Given the description of an element on the screen output the (x, y) to click on. 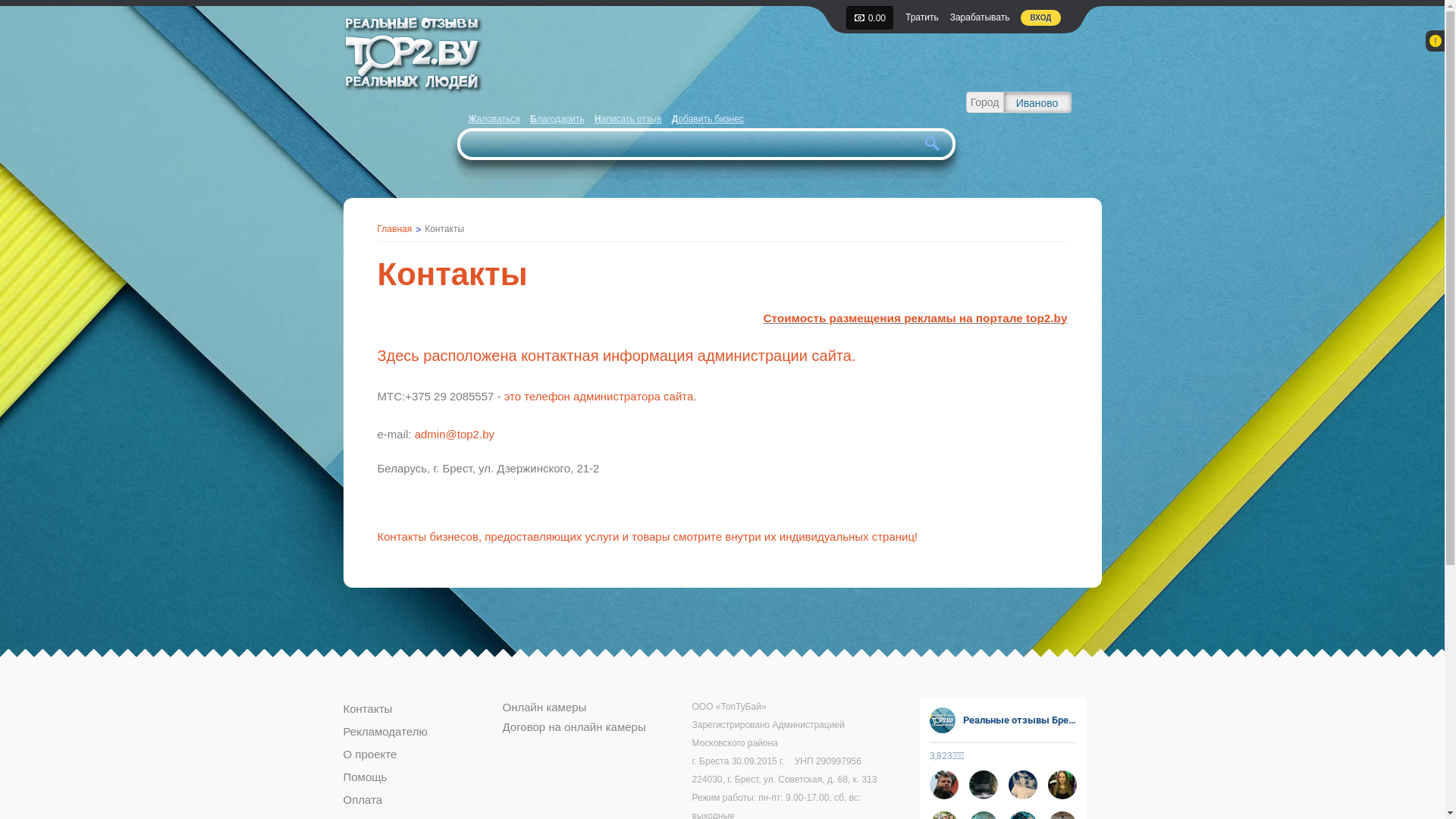
admin@top2.by Element type: text (454, 433)
